Given the description of an element on the screen output the (x, y) to click on. 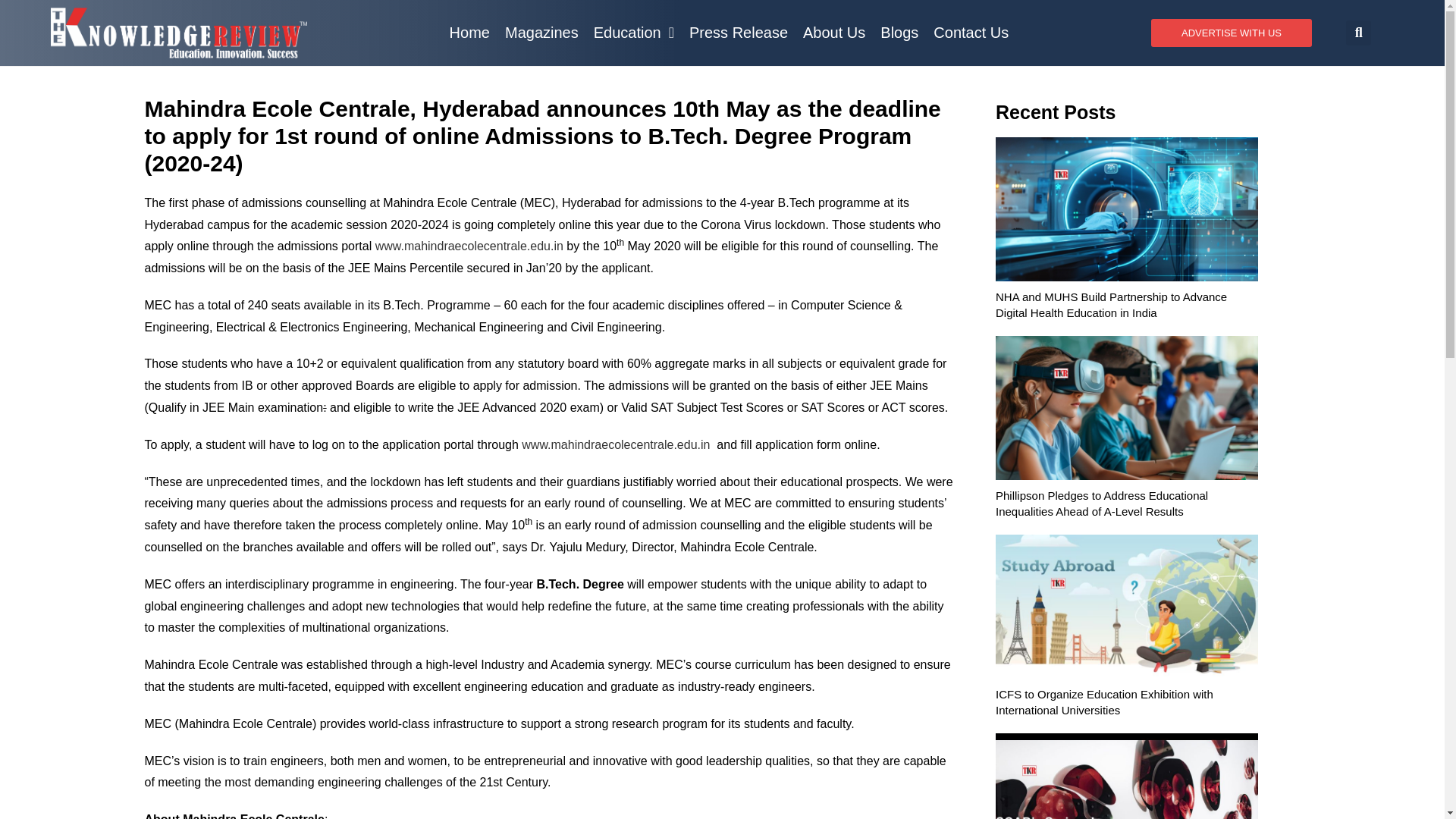
ADVERTISE WITH US (1232, 32)
Press Release (737, 32)
About Us (833, 32)
Blogs (899, 32)
Contact Us (971, 32)
Education (633, 32)
Home (469, 32)
Magazines (541, 32)
